Given the description of an element on the screen output the (x, y) to click on. 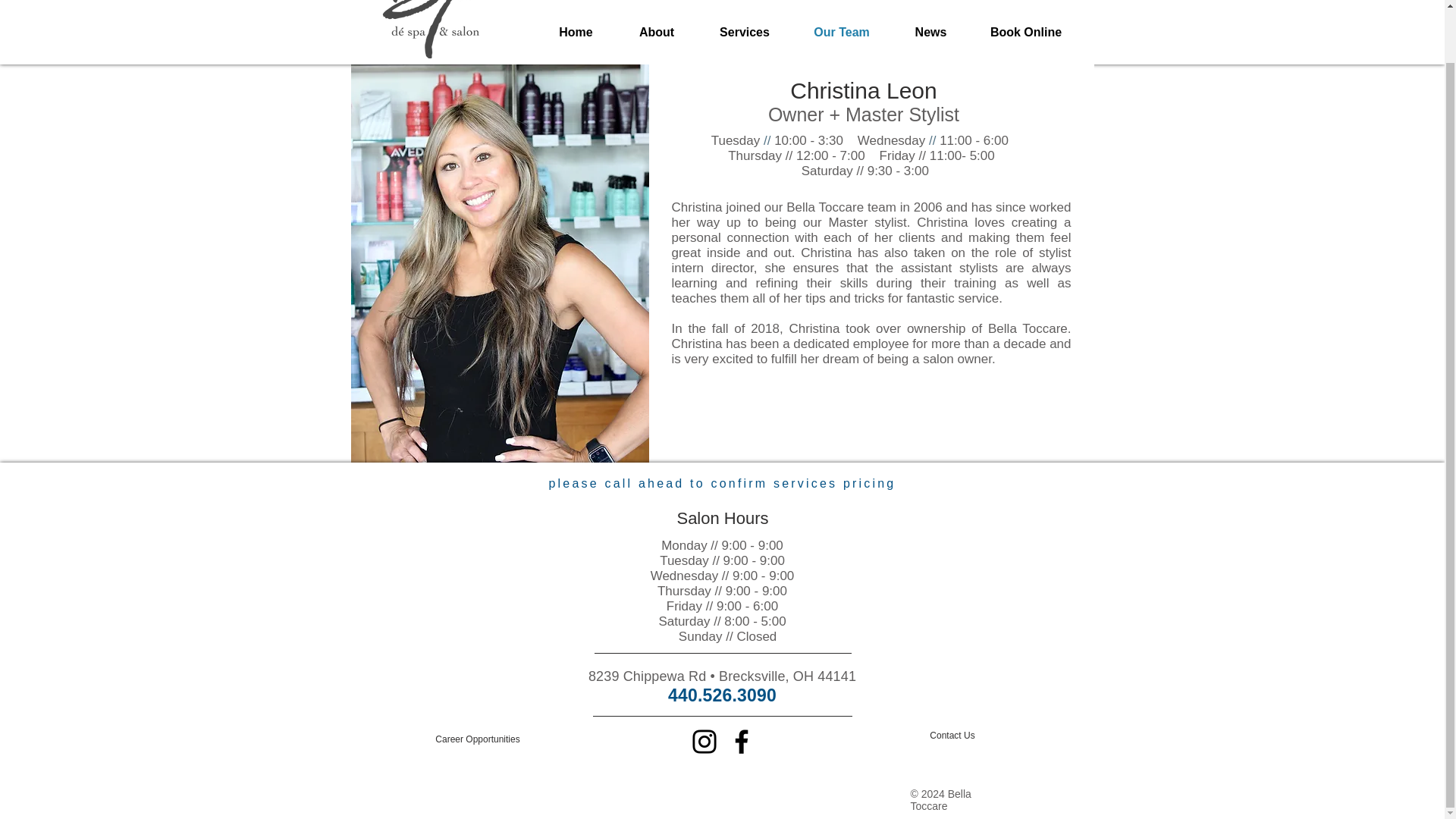
Book Online (1026, 32)
 please call ahead to confirm services pricing  (722, 482)
Contact Us (952, 736)
News (931, 32)
Career Opportunities (477, 739)
Our Team (841, 32)
Home (575, 32)
440.526.3090 (722, 695)
